Given the description of an element on the screen output the (x, y) to click on. 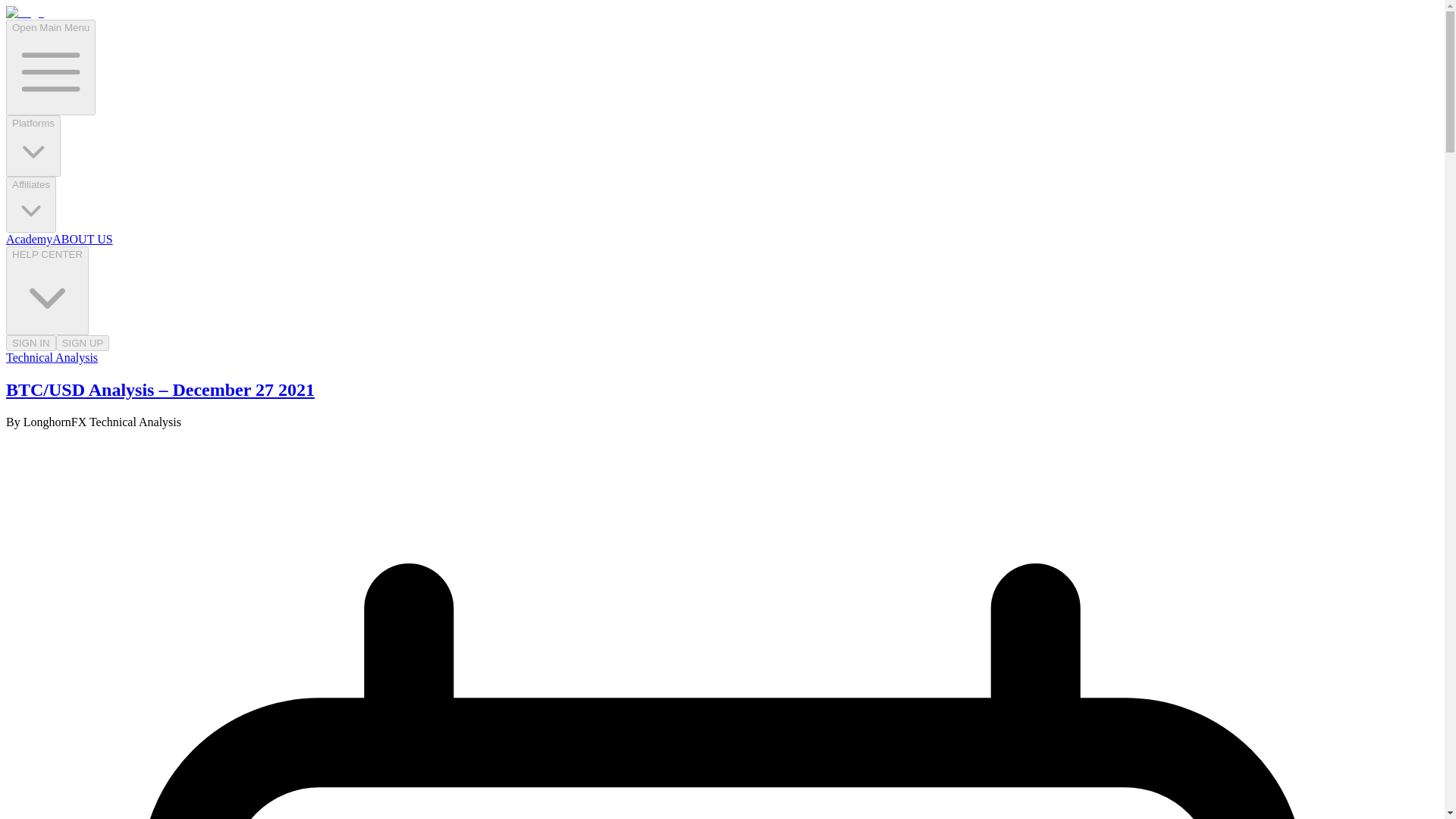
Academy (28, 238)
SIGN UP (83, 342)
ABOUT US (82, 238)
HELP CENTER (46, 290)
SIGN IN (30, 342)
SIGN UP (83, 341)
Technical Analysis (51, 357)
Affiliates (30, 204)
Open Main Menu (50, 67)
SIGN IN (30, 341)
